Given the description of an element on the screen output the (x, y) to click on. 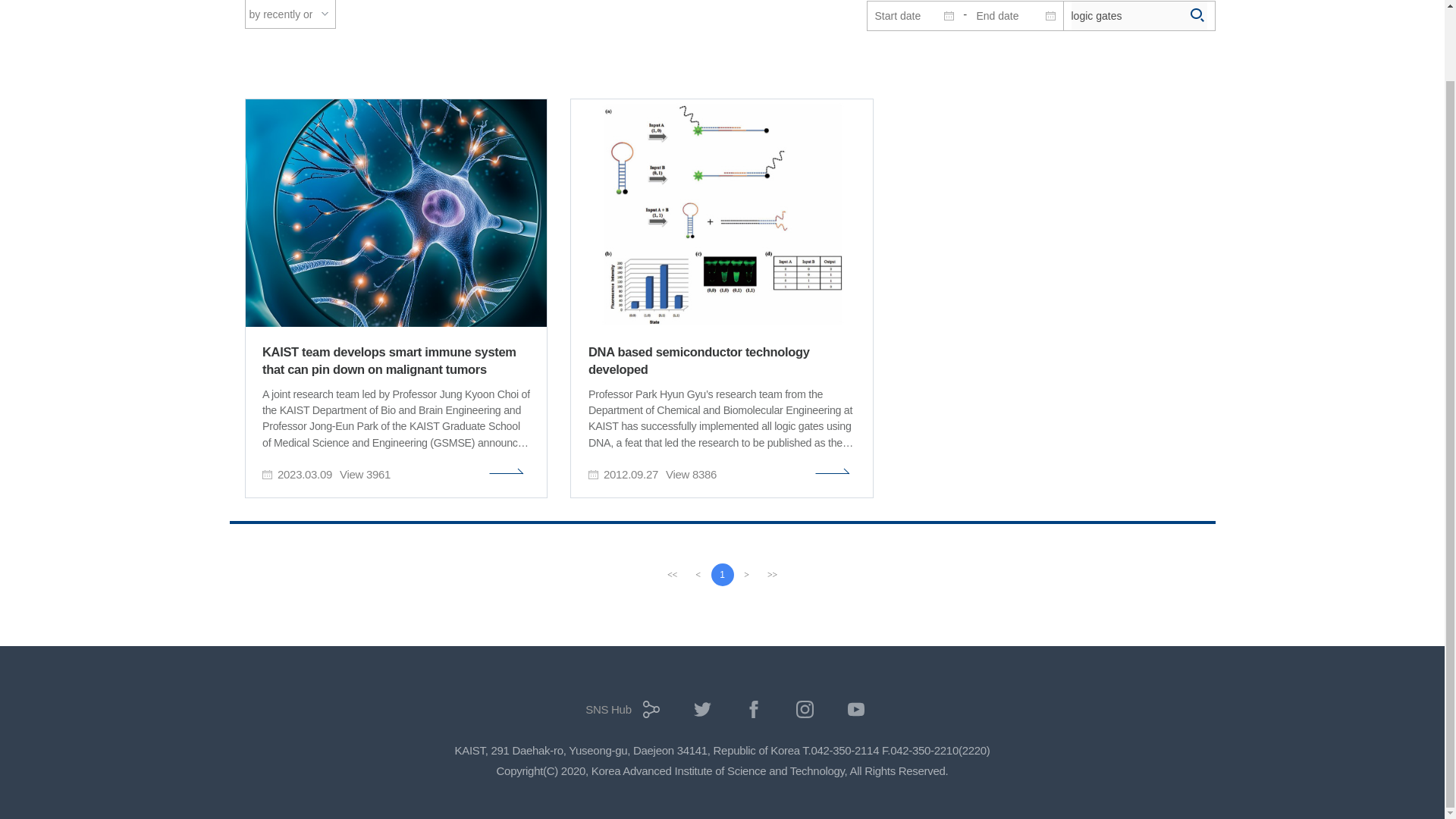
logic gates (1138, 15)
1 (722, 574)
SNS Hub (619, 715)
Input a Keyword (1138, 15)
